Given the description of an element on the screen output the (x, y) to click on. 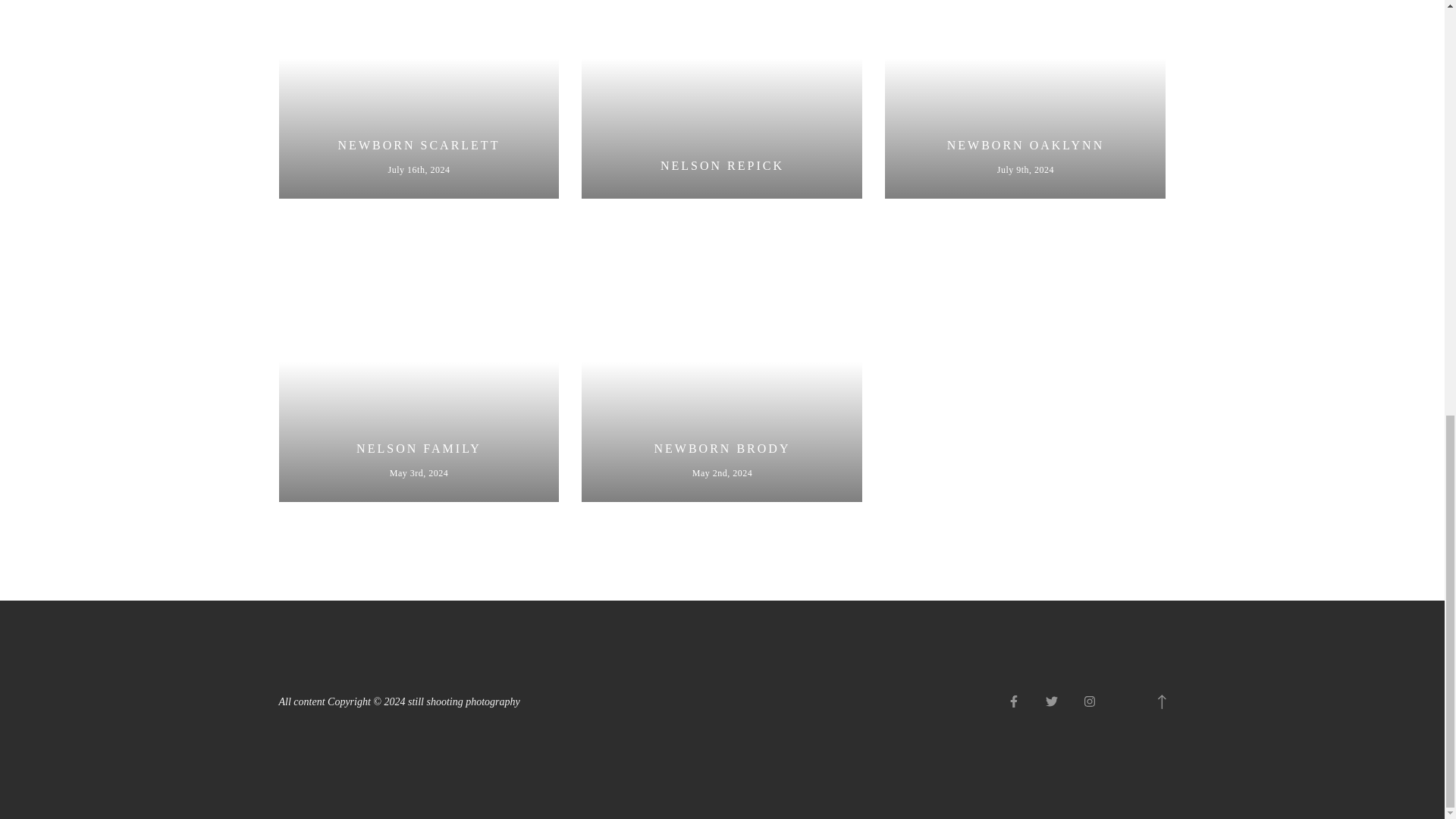
NELSON REPICK (419, 361)
